Given the description of an element on the screen output the (x, y) to click on. 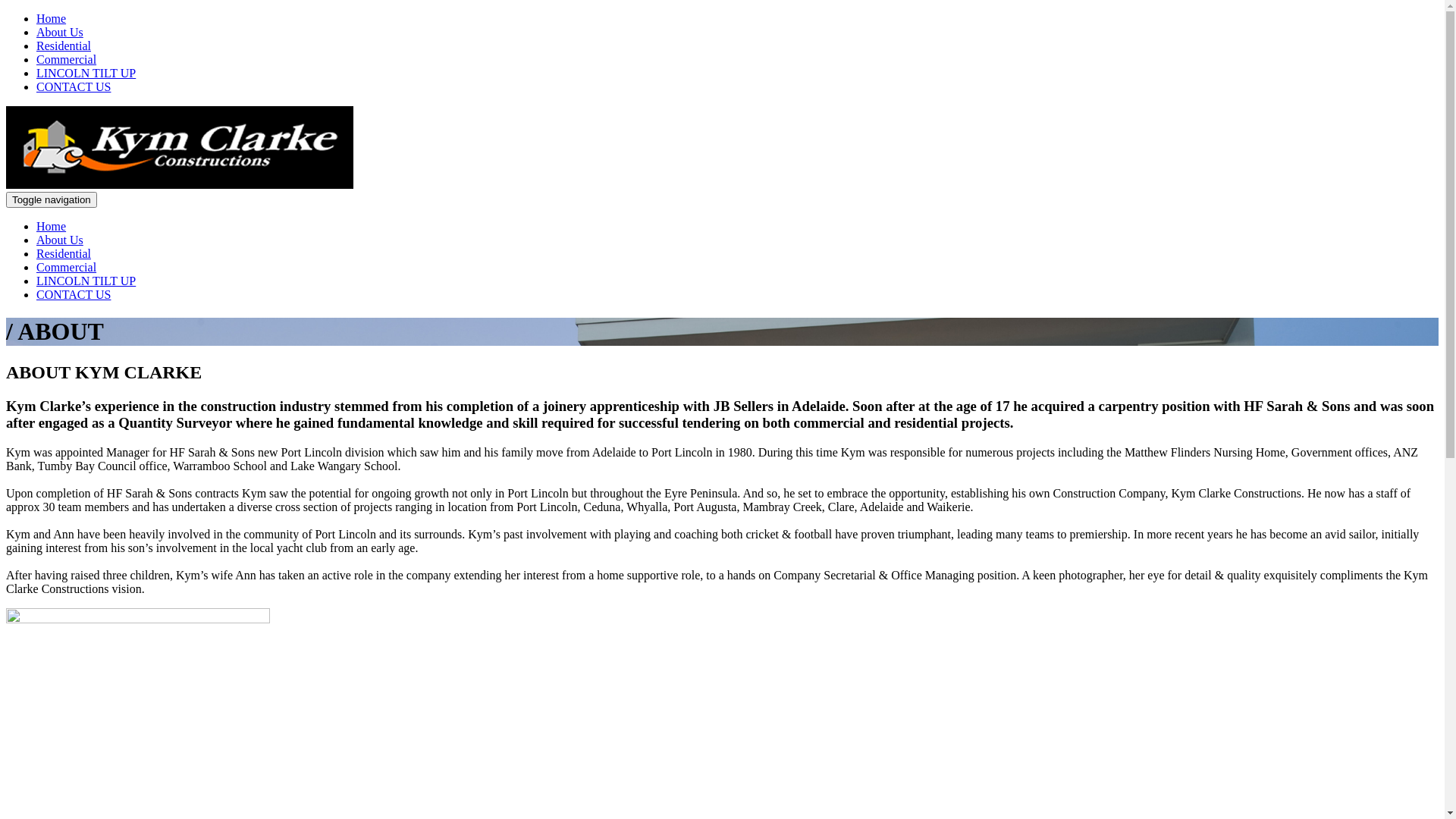
About Us Element type: text (59, 31)
Toggle navigation Element type: text (51, 199)
LINCOLN TILT UP Element type: text (85, 280)
Home Element type: text (50, 225)
CONTACT US Element type: text (73, 294)
Home Element type: text (50, 18)
LINCOLN TILT UP Element type: text (85, 72)
Residential Element type: text (63, 253)
CONTACT US Element type: text (73, 86)
Residential Element type: text (63, 45)
About Us Element type: text (59, 239)
Commercial Element type: text (66, 59)
Commercial Element type: text (66, 266)
